Given the description of an element on the screen output the (x, y) to click on. 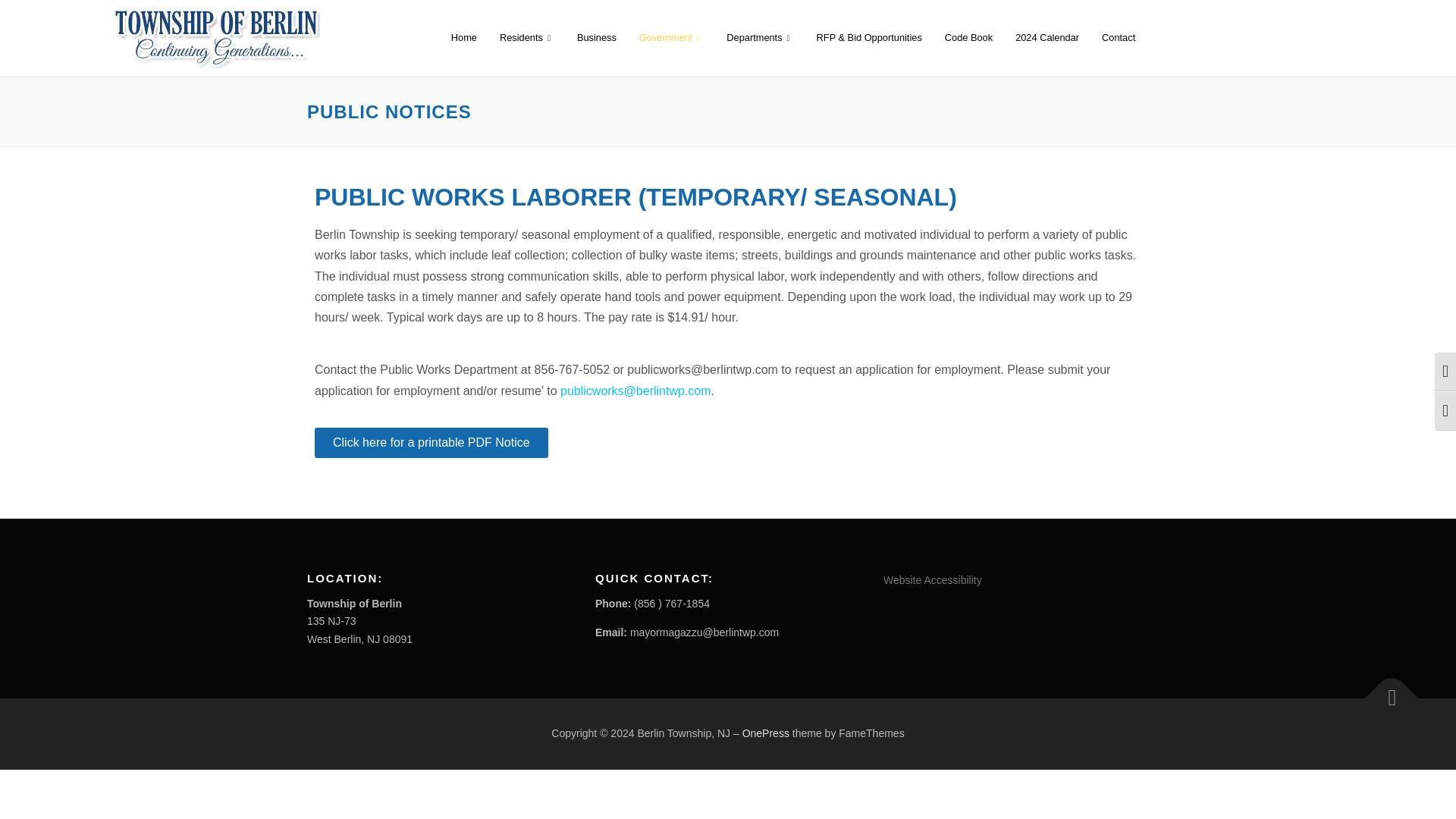
Residents (526, 37)
Government (670, 37)
Departments (759, 37)
Business (596, 37)
